Given the description of an element on the screen output the (x, y) to click on. 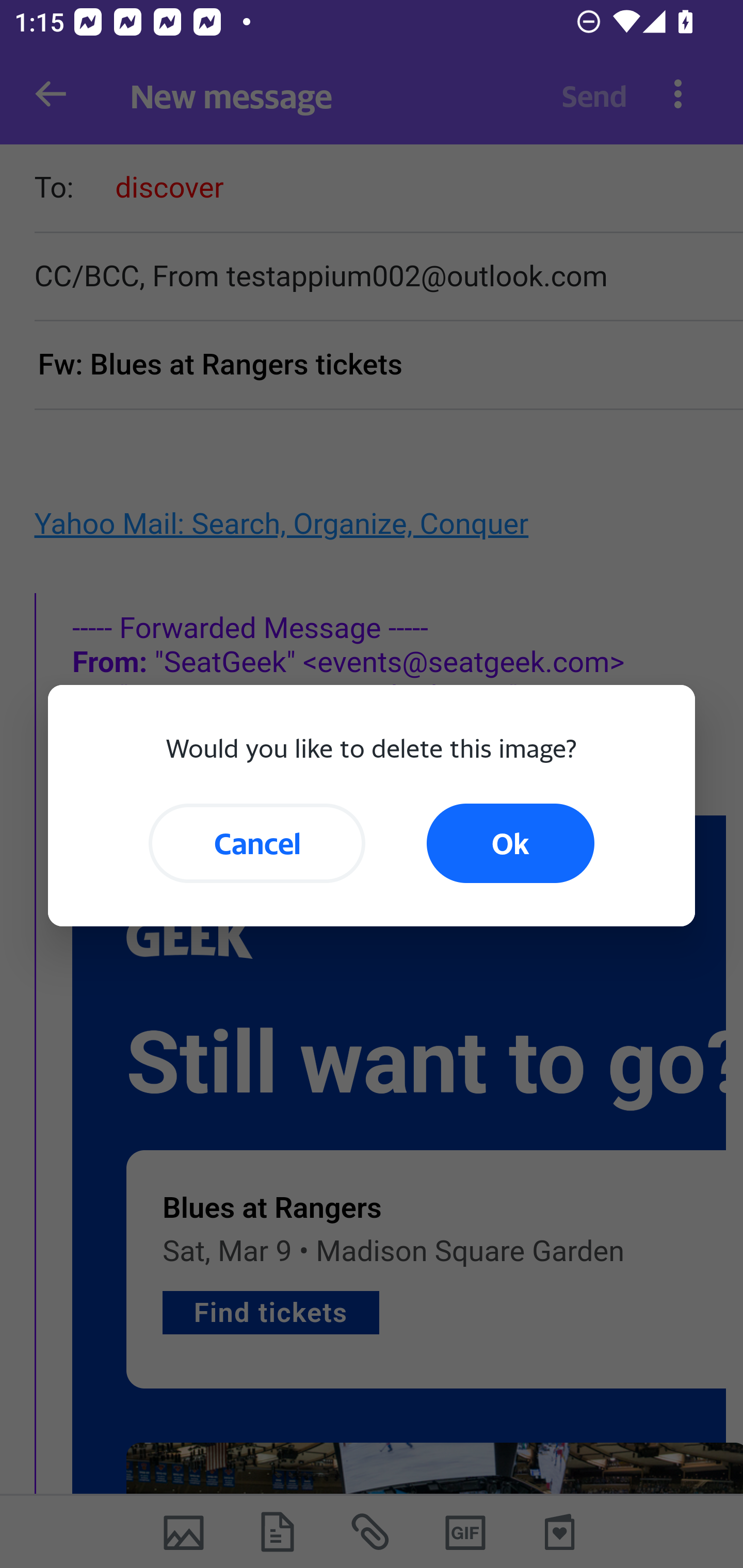
Cancel (256, 842)
Ok (510, 842)
